Given the description of an element on the screen output the (x, y) to click on. 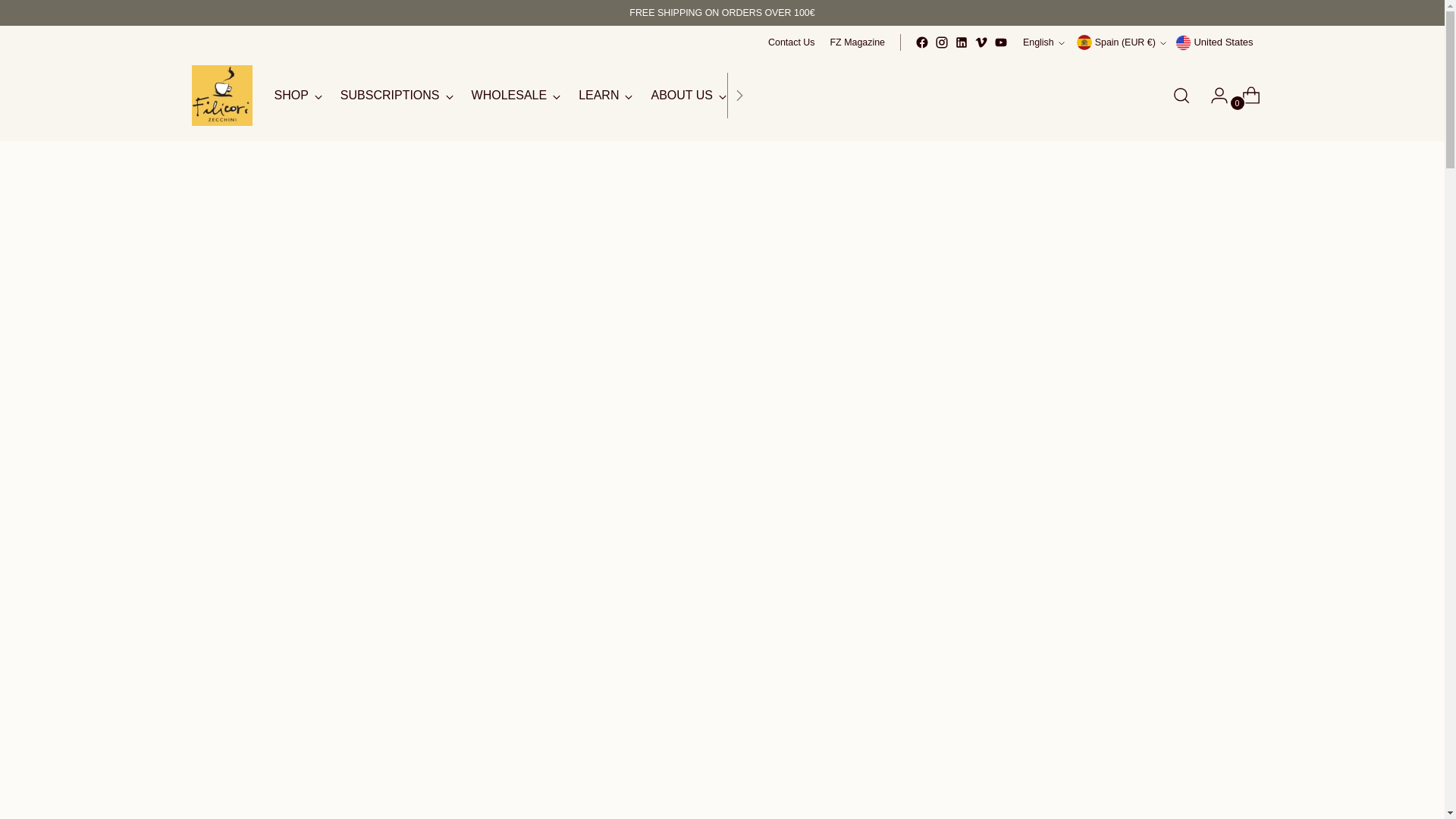
Filicori Zecchini Italia on LinkedIn (961, 42)
Filicori Zecchini Italia on Vimeo (981, 42)
English (511, 94)
Filicori Zecchini Italia on Facebook (1043, 41)
Filicori Zecchini Italia on YouTube (921, 42)
Filicori Zecchini Italia on Instagram (1000, 42)
FZ Magazine (941, 42)
Contact Us (857, 41)
